Given the description of an element on the screen output the (x, y) to click on. 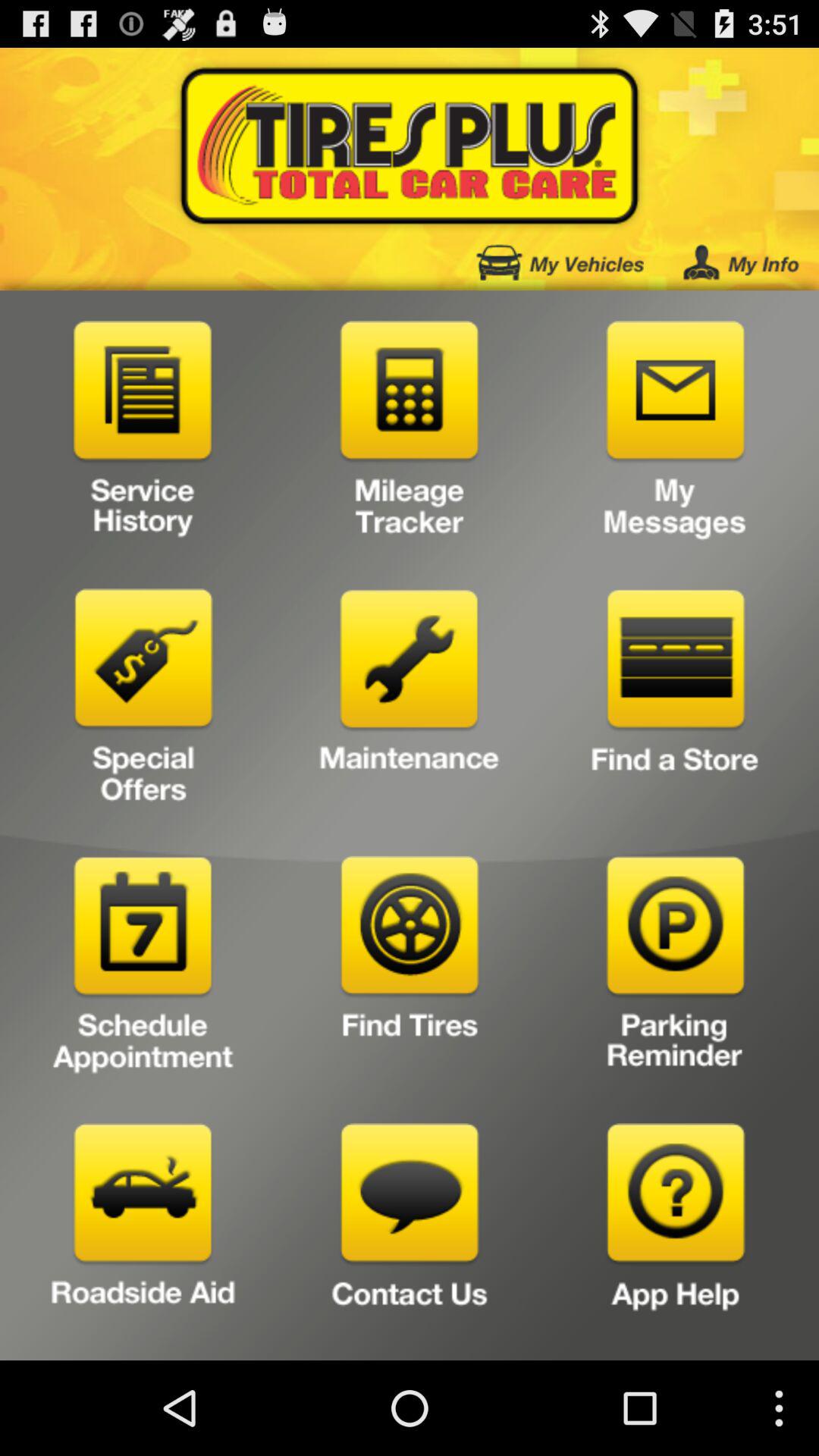
click maintenance (409, 701)
